Given the description of an element on the screen output the (x, y) to click on. 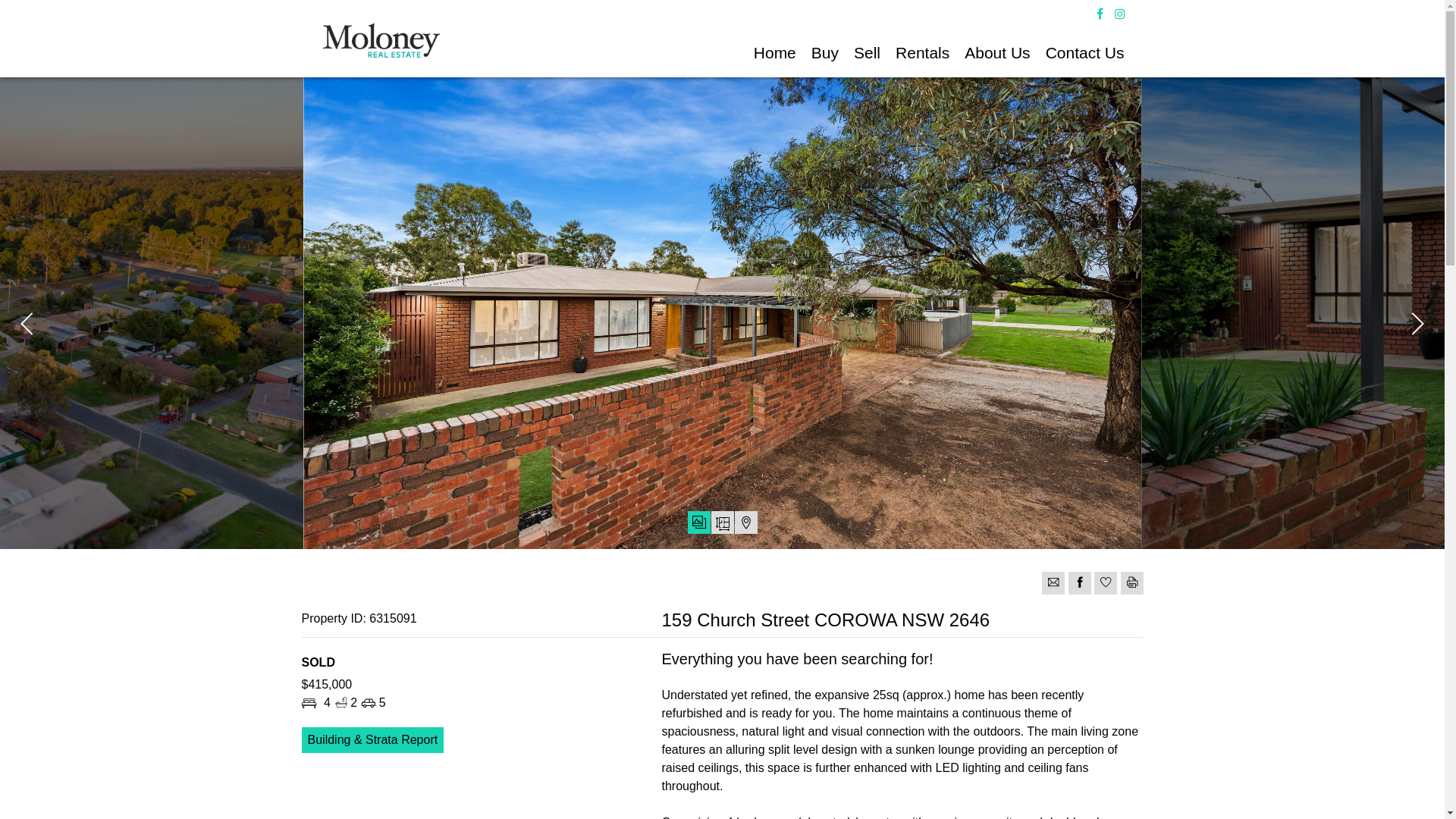
Sell Element type: text (867, 52)
Share on Facebook Element type: hover (1079, 582)
Buy Element type: text (824, 52)
Building & Strata Report Element type: text (372, 740)
Email a Friend Element type: hover (1052, 582)
Rentals Element type: text (922, 52)
Home Element type: text (774, 52)
About Us Element type: text (997, 52)
Contact Us Element type: text (1085, 52)
Add Favourites Element type: hover (1105, 582)
Print Element type: hover (1131, 582)
